Given the description of an element on the screen output the (x, y) to click on. 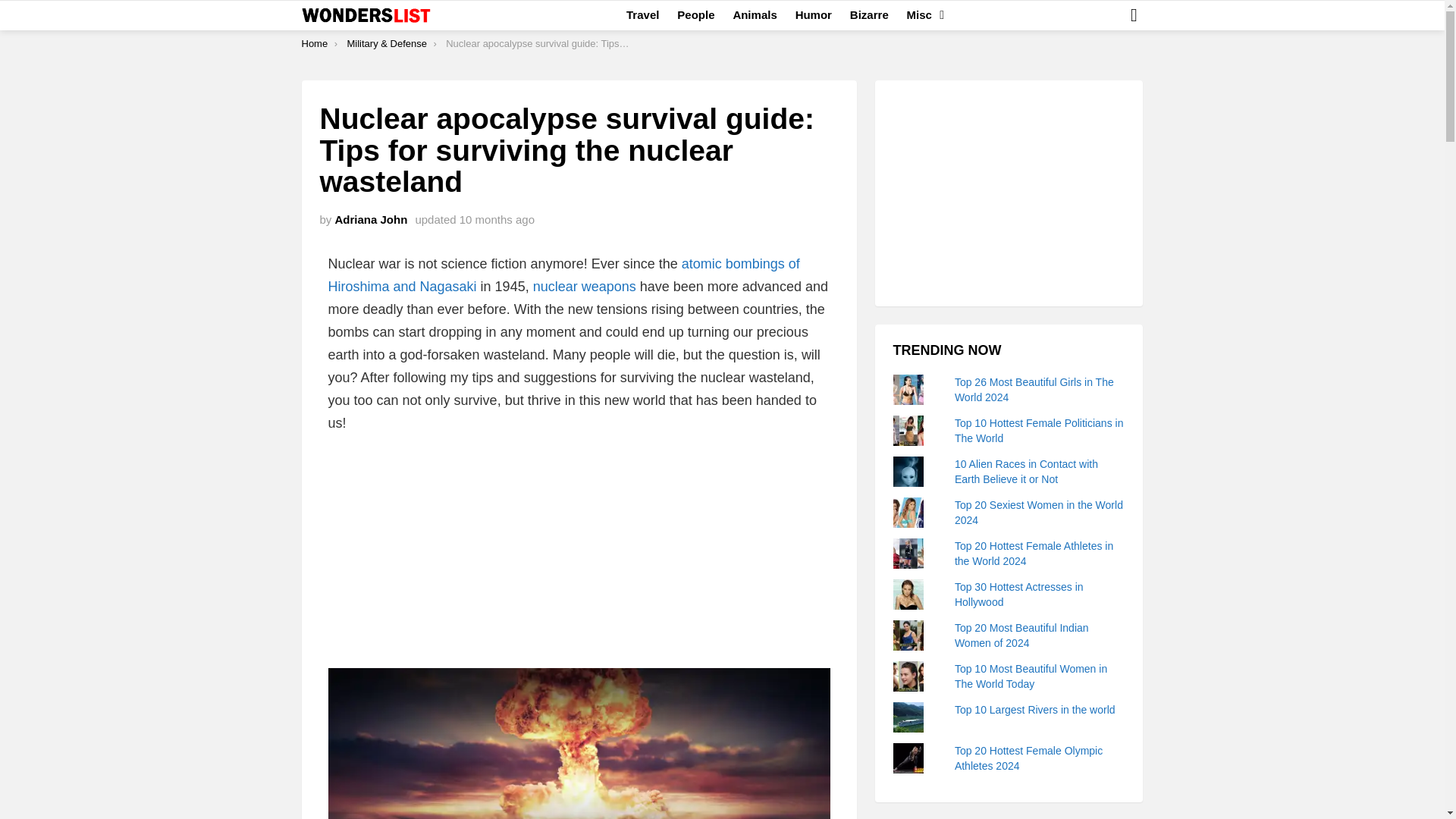
Animals (754, 15)
People (695, 15)
Bizarre (869, 15)
Travel (642, 15)
Top 26 Most Beautiful Girls in The World 2024 (1034, 389)
September 30, 2023, 12:23 pm (497, 219)
Home (315, 43)
Adriana John (370, 219)
Posts by Adriana John (370, 219)
Advertisement (1009, 193)
Humor (813, 15)
Advertisement (578, 555)
atomic bombings of Hiroshima and Nagasaki (563, 275)
Misc (921, 15)
nuclear weapons (584, 286)
